Given the description of an element on the screen output the (x, y) to click on. 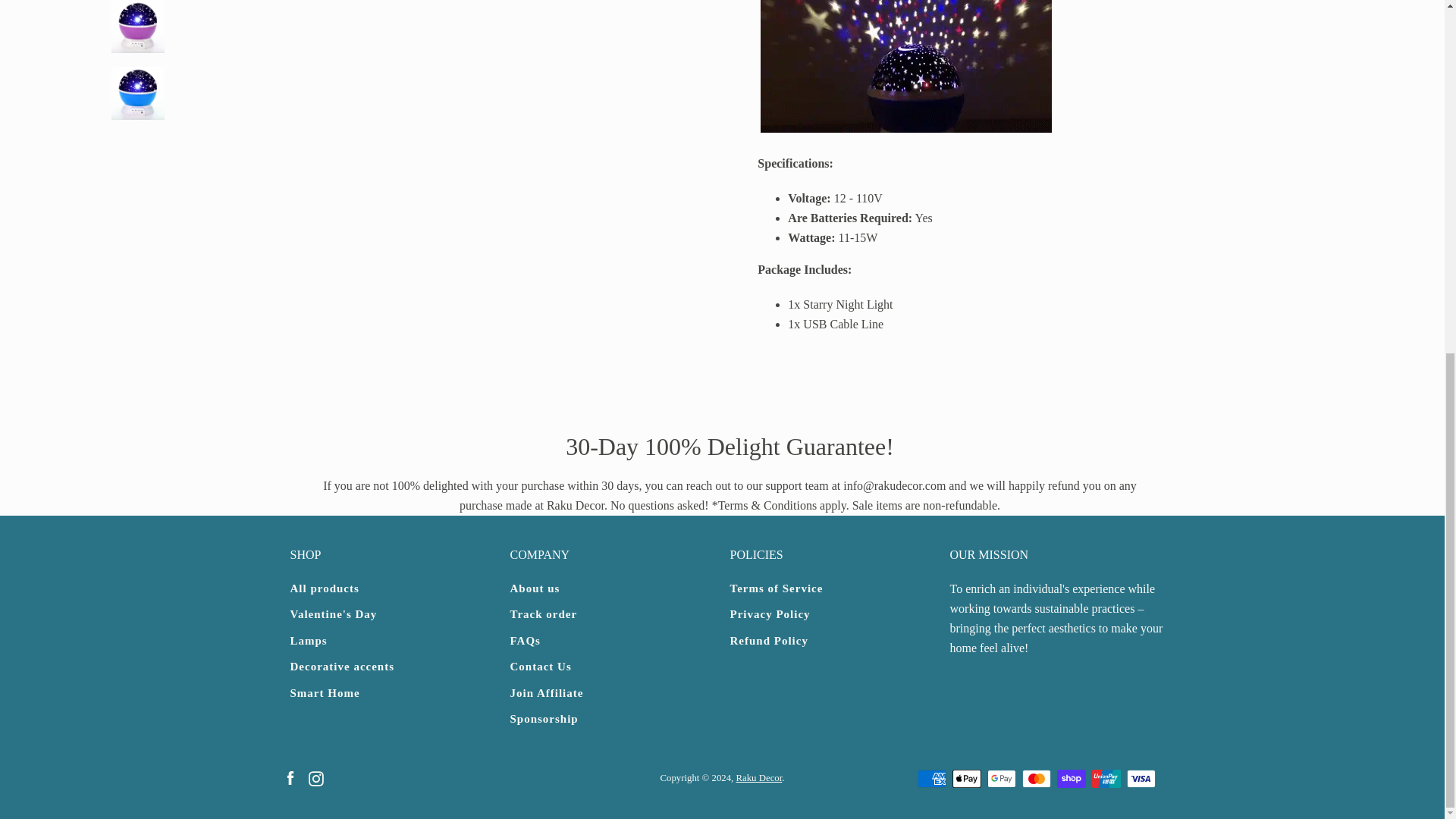
Mastercard (1036, 778)
Google Pay (1001, 778)
Raku Decor on Instagram (315, 776)
Union Pay (1106, 778)
Shop Pay (1071, 778)
Apple Pay (966, 778)
Raku Decor on Facebook (289, 776)
American Express (931, 778)
Visa (1141, 778)
